Given the description of an element on the screen output the (x, y) to click on. 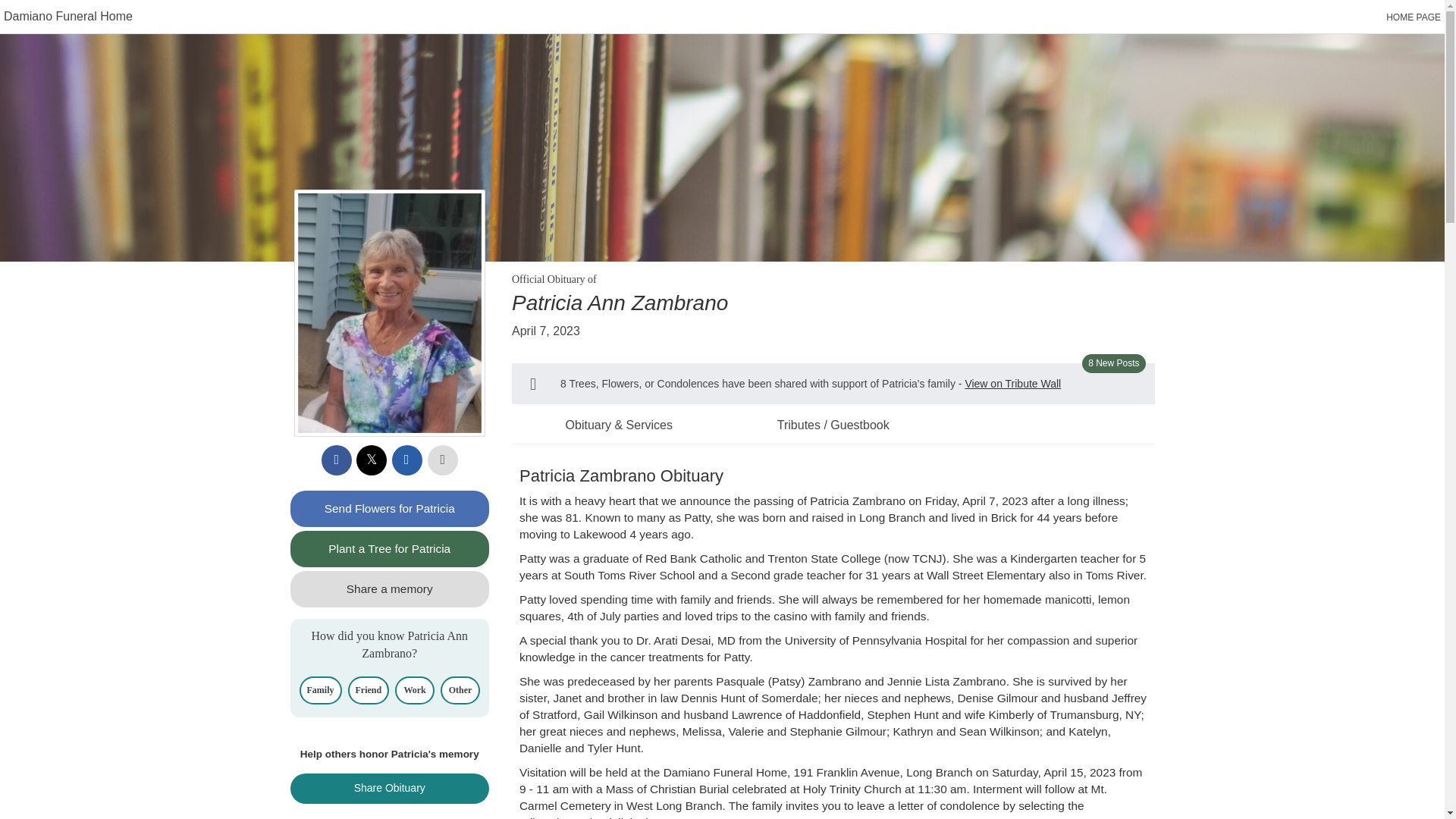
Damiano Funeral Home (68, 15)
View on Tribute Wall (1012, 383)
Share via email (406, 460)
Printable copy (443, 460)
Share on X (371, 460)
Plant a Tree for Patricia (389, 548)
Share Obituary (389, 788)
Send Flowers for Patricia (389, 508)
Share to Facebook (336, 460)
Share a memory (389, 588)
HOME PAGE (1413, 17)
